Given the description of an element on the screen output the (x, y) to click on. 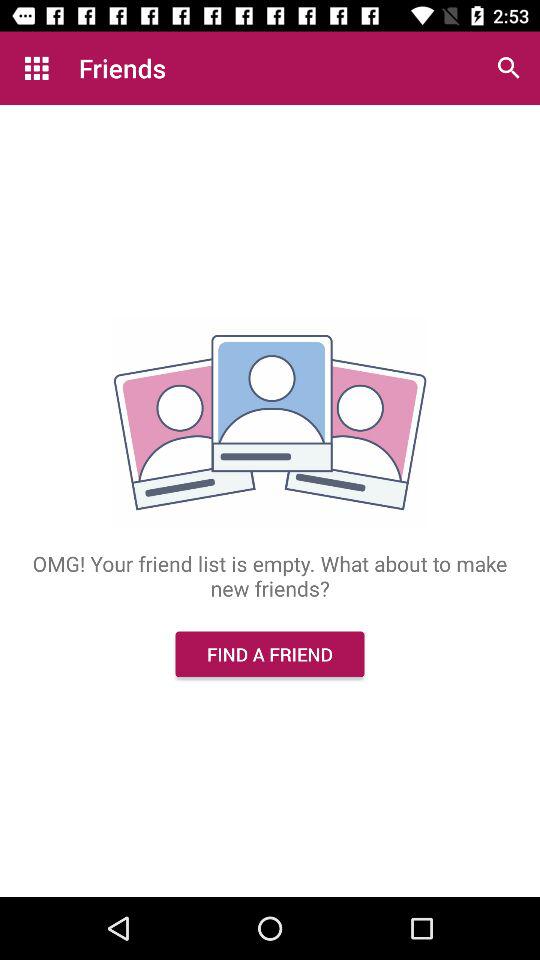
turn off item to the left of friends icon (36, 68)
